Given the description of an element on the screen output the (x, y) to click on. 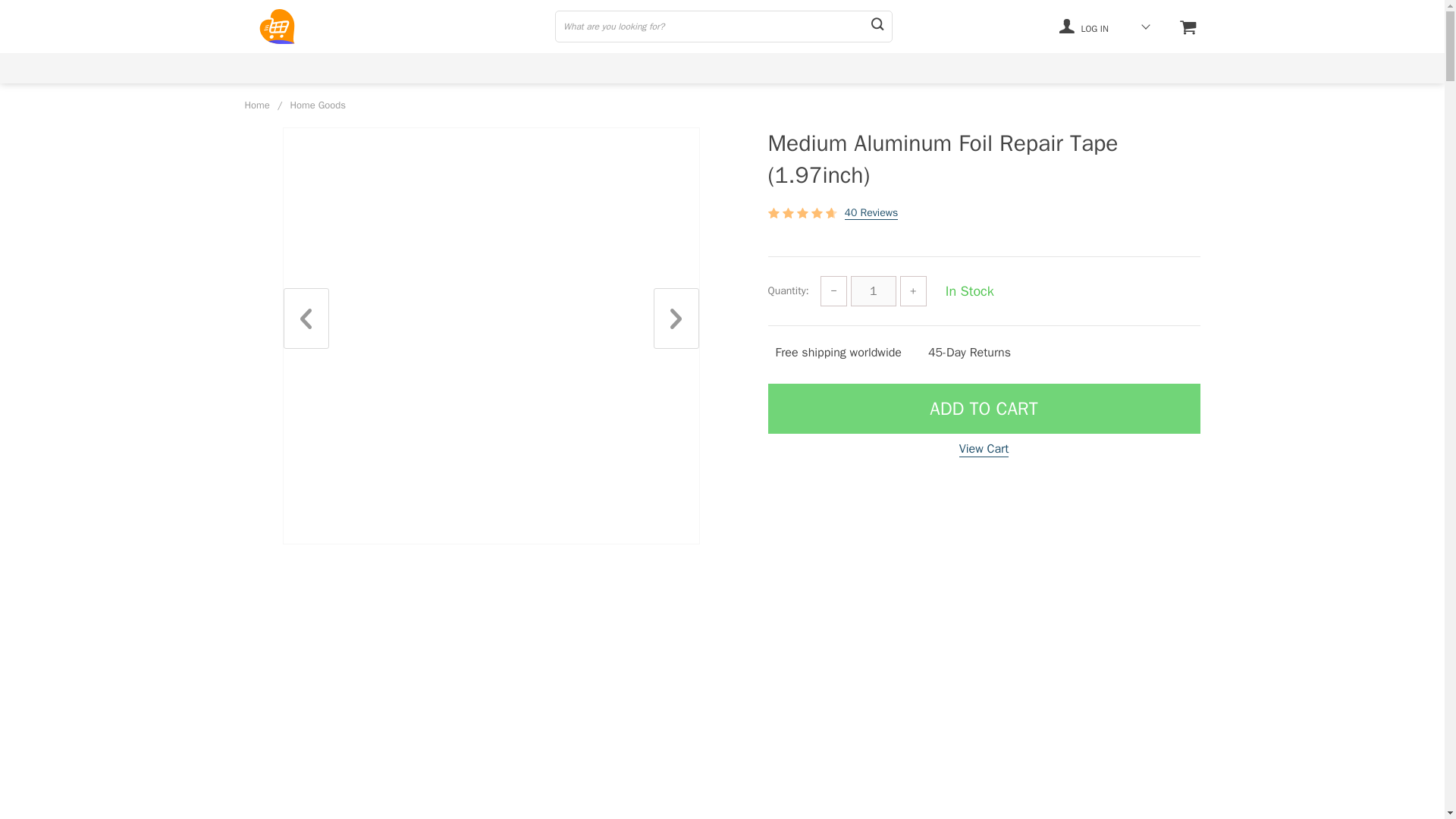
Home Goods (317, 104)
Home (256, 105)
ADD TO CART (983, 409)
1 (873, 291)
LOG IN (1083, 25)
